Given the description of an element on the screen output the (x, y) to click on. 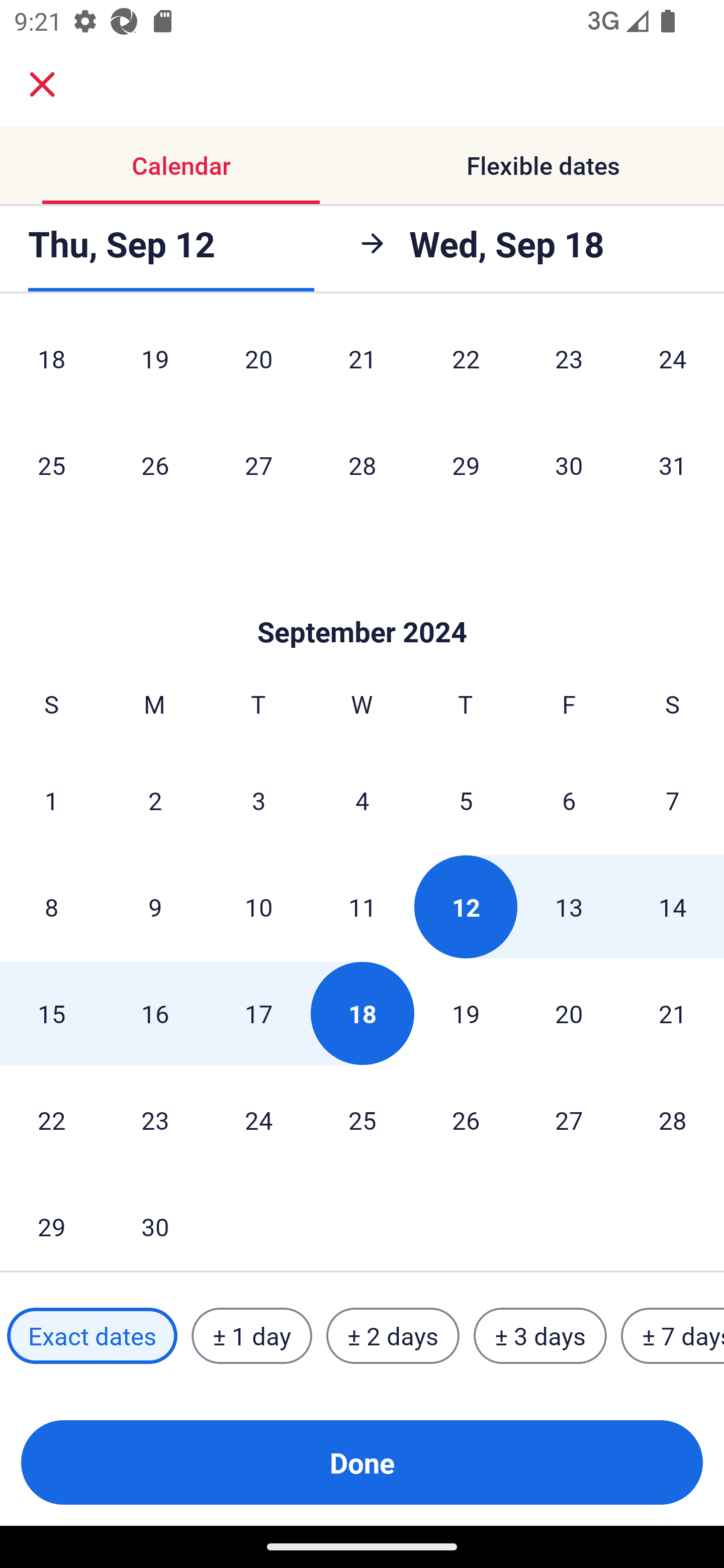
close. (42, 84)
Flexible dates (542, 164)
18 Sunday, August 18, 2024 (51, 365)
19 Monday, August 19, 2024 (155, 365)
20 Tuesday, August 20, 2024 (258, 365)
21 Wednesday, August 21, 2024 (362, 365)
22 Thursday, August 22, 2024 (465, 365)
23 Friday, August 23, 2024 (569, 365)
24 Saturday, August 24, 2024 (672, 365)
25 Sunday, August 25, 2024 (51, 464)
26 Monday, August 26, 2024 (155, 464)
27 Tuesday, August 27, 2024 (258, 464)
28 Wednesday, August 28, 2024 (362, 464)
29 Thursday, August 29, 2024 (465, 464)
30 Friday, August 30, 2024 (569, 464)
31 Saturday, August 31, 2024 (672, 464)
Skip to Done (362, 601)
1 Sunday, September 1, 2024 (51, 800)
2 Monday, September 2, 2024 (155, 800)
3 Tuesday, September 3, 2024 (258, 800)
4 Wednesday, September 4, 2024 (362, 800)
5 Thursday, September 5, 2024 (465, 800)
6 Friday, September 6, 2024 (569, 800)
7 Saturday, September 7, 2024 (672, 800)
8 Sunday, September 8, 2024 (51, 907)
9 Monday, September 9, 2024 (155, 907)
10 Tuesday, September 10, 2024 (258, 907)
11 Wednesday, September 11, 2024 (362, 907)
19 Thursday, September 19, 2024 (465, 1012)
20 Friday, September 20, 2024 (569, 1012)
21 Saturday, September 21, 2024 (672, 1012)
22 Sunday, September 22, 2024 (51, 1119)
23 Monday, September 23, 2024 (155, 1119)
24 Tuesday, September 24, 2024 (258, 1119)
25 Wednesday, September 25, 2024 (362, 1119)
26 Thursday, September 26, 2024 (465, 1119)
27 Friday, September 27, 2024 (569, 1119)
28 Saturday, September 28, 2024 (672, 1119)
29 Sunday, September 29, 2024 (51, 1222)
30 Monday, September 30, 2024 (155, 1222)
Exact dates (92, 1335)
± 1 day (251, 1335)
± 2 days (392, 1335)
± 3 days (539, 1335)
± 7 days (672, 1335)
Done (361, 1462)
